Given the description of an element on the screen output the (x, y) to click on. 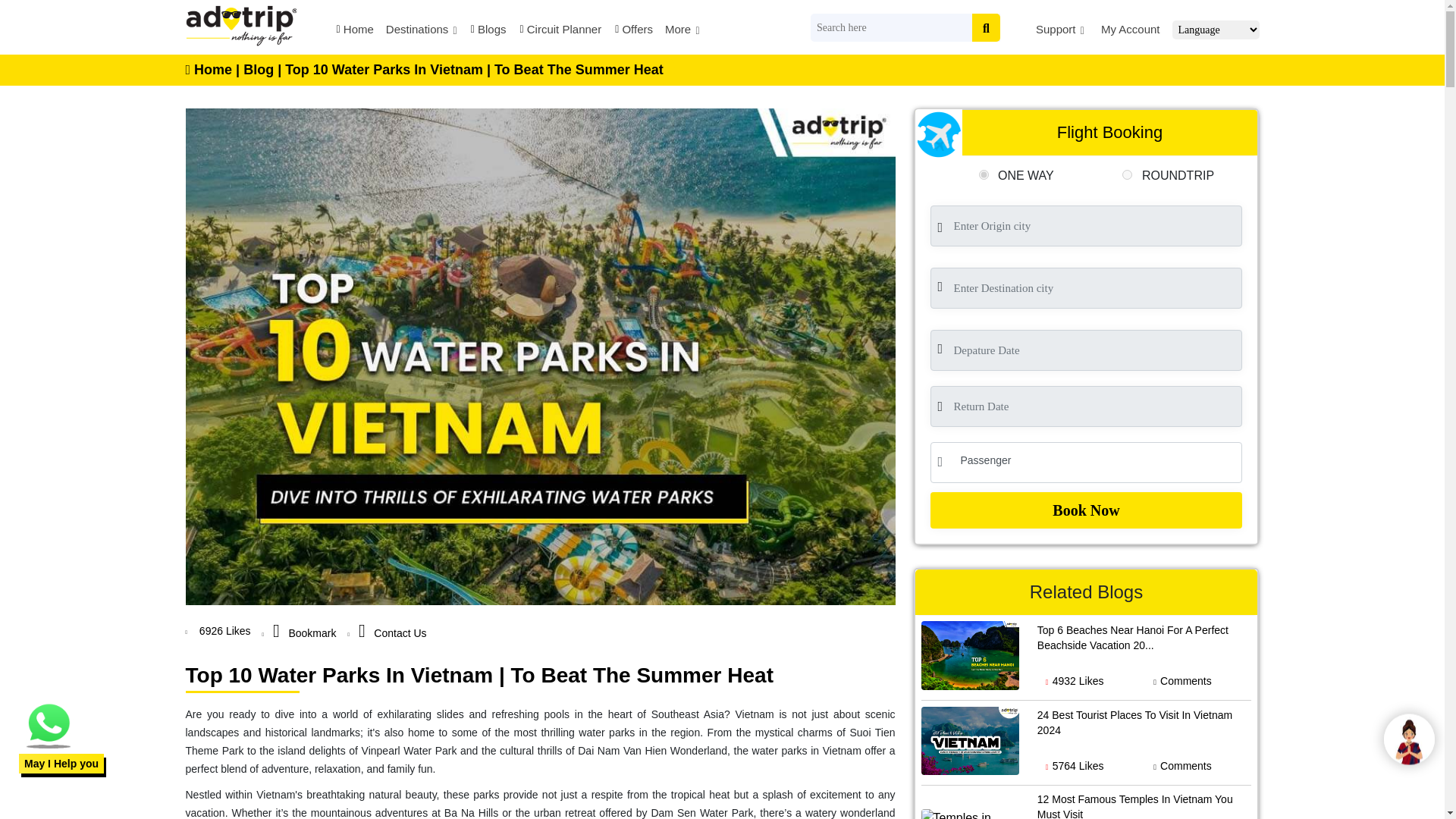
Offers (632, 31)
Circuit Planner (559, 31)
6926 Likes (223, 630)
circle (1127, 174)
Book Now (1085, 510)
  Bookmark (304, 633)
Support (1059, 31)
Blogs (487, 31)
  Contact Us (392, 633)
More (681, 31)
